Given the description of an element on the screen output the (x, y) to click on. 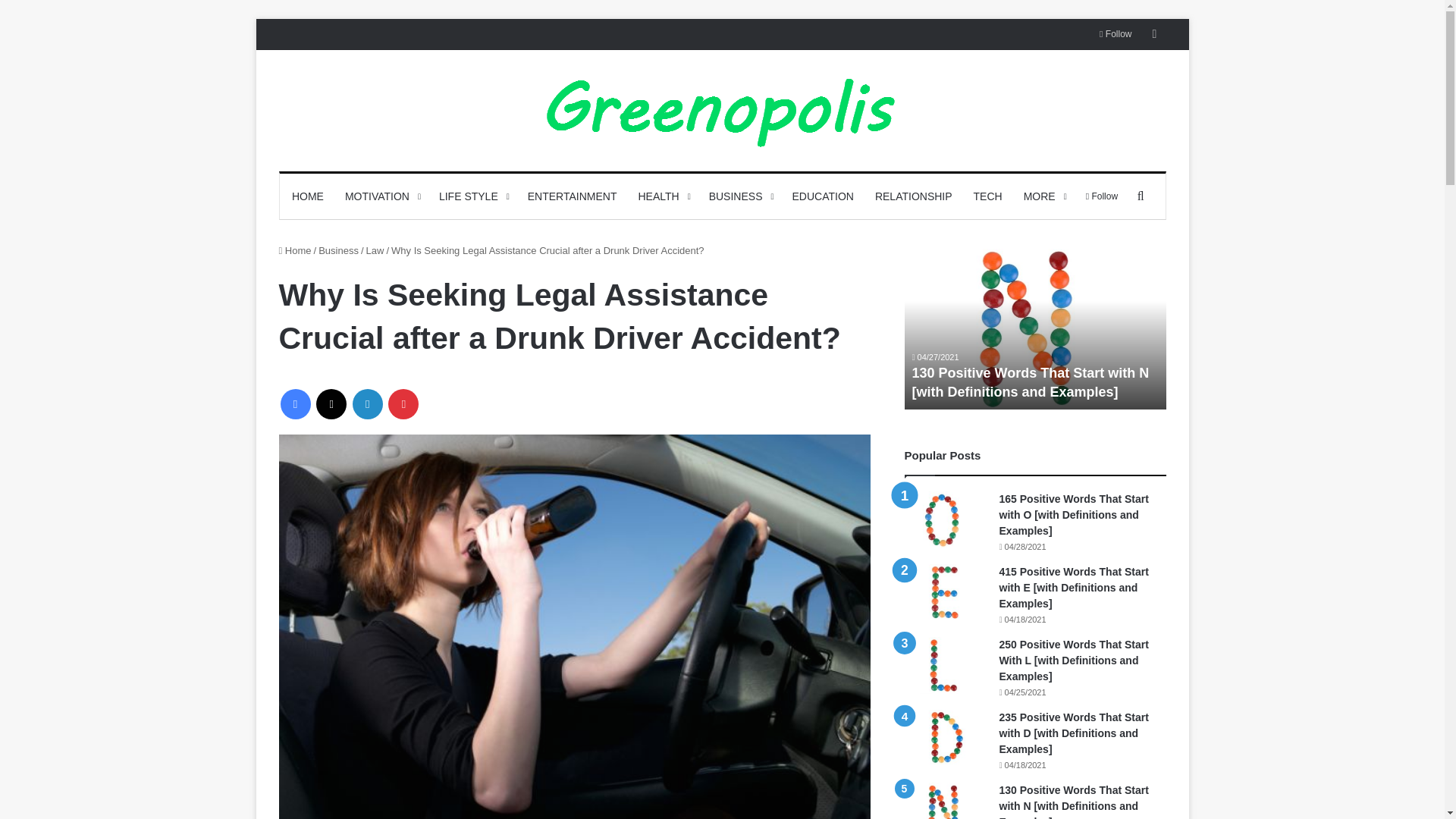
MOTIVATION (381, 196)
X (330, 404)
Follow (1114, 33)
LIFE STYLE (472, 196)
Greenopolis (721, 110)
ENTERTAINMENT (571, 196)
Facebook (296, 404)
HEALTH (662, 196)
Log In (1154, 33)
LinkedIn (367, 404)
Pinterest (403, 404)
HOME (307, 196)
